Given the description of an element on the screen output the (x, y) to click on. 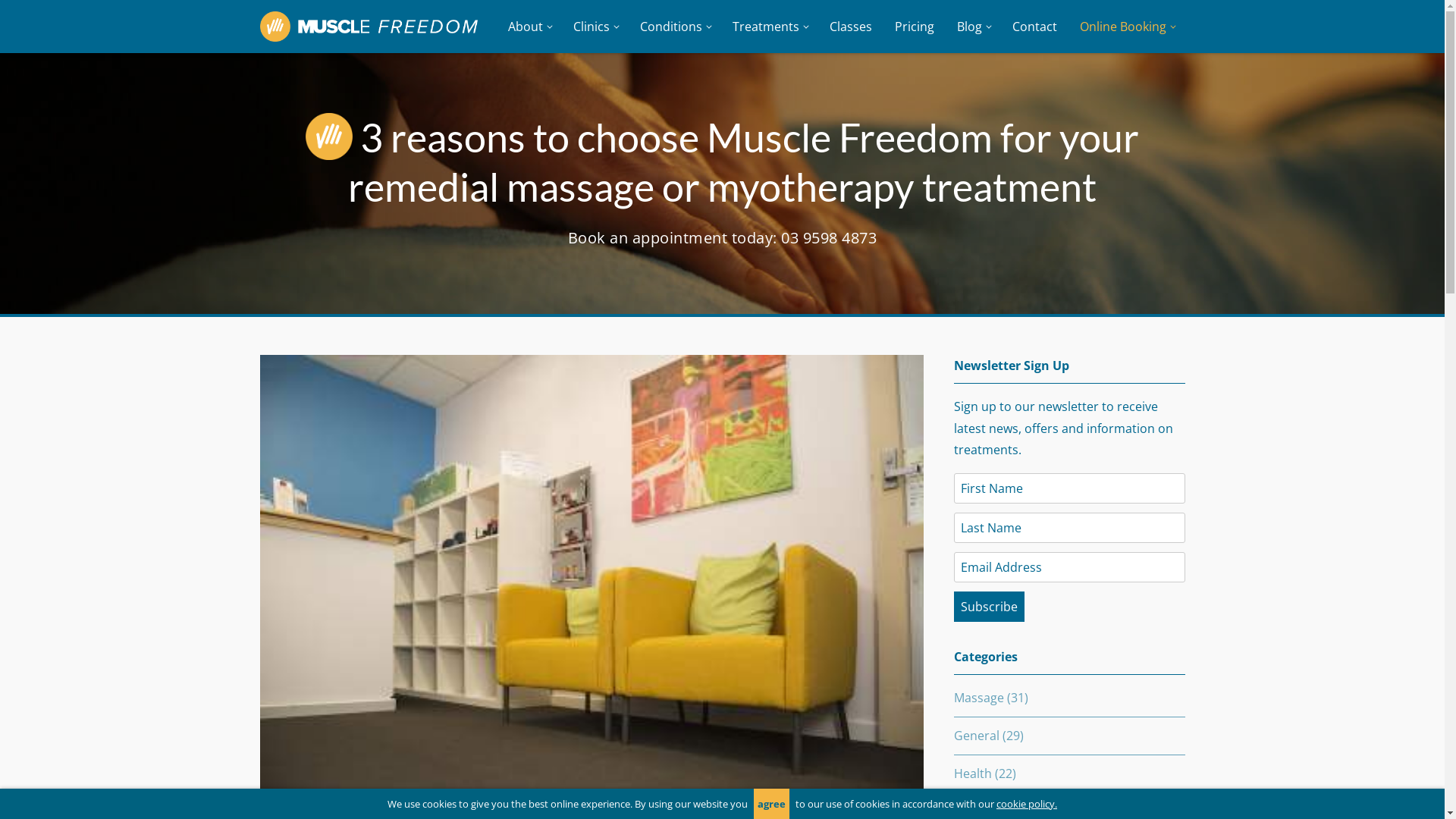
General Element type: text (976, 735)
03 9598 4873 Element type: text (828, 237)
Health Element type: text (972, 773)
About Element type: text (528, 26)
Contact Element type: text (1034, 26)
Pricing Element type: text (913, 26)
Massage Element type: text (978, 697)
Conditions Element type: text (673, 26)
Online Booking Element type: text (1125, 26)
Subscribe Element type: text (988, 606)
cookie policy. Element type: text (1026, 803)
Clinics Element type: text (594, 26)
Blog Element type: text (972, 26)
Classes Element type: text (849, 26)
Treatments Element type: text (768, 26)
